Given the description of an element on the screen output the (x, y) to click on. 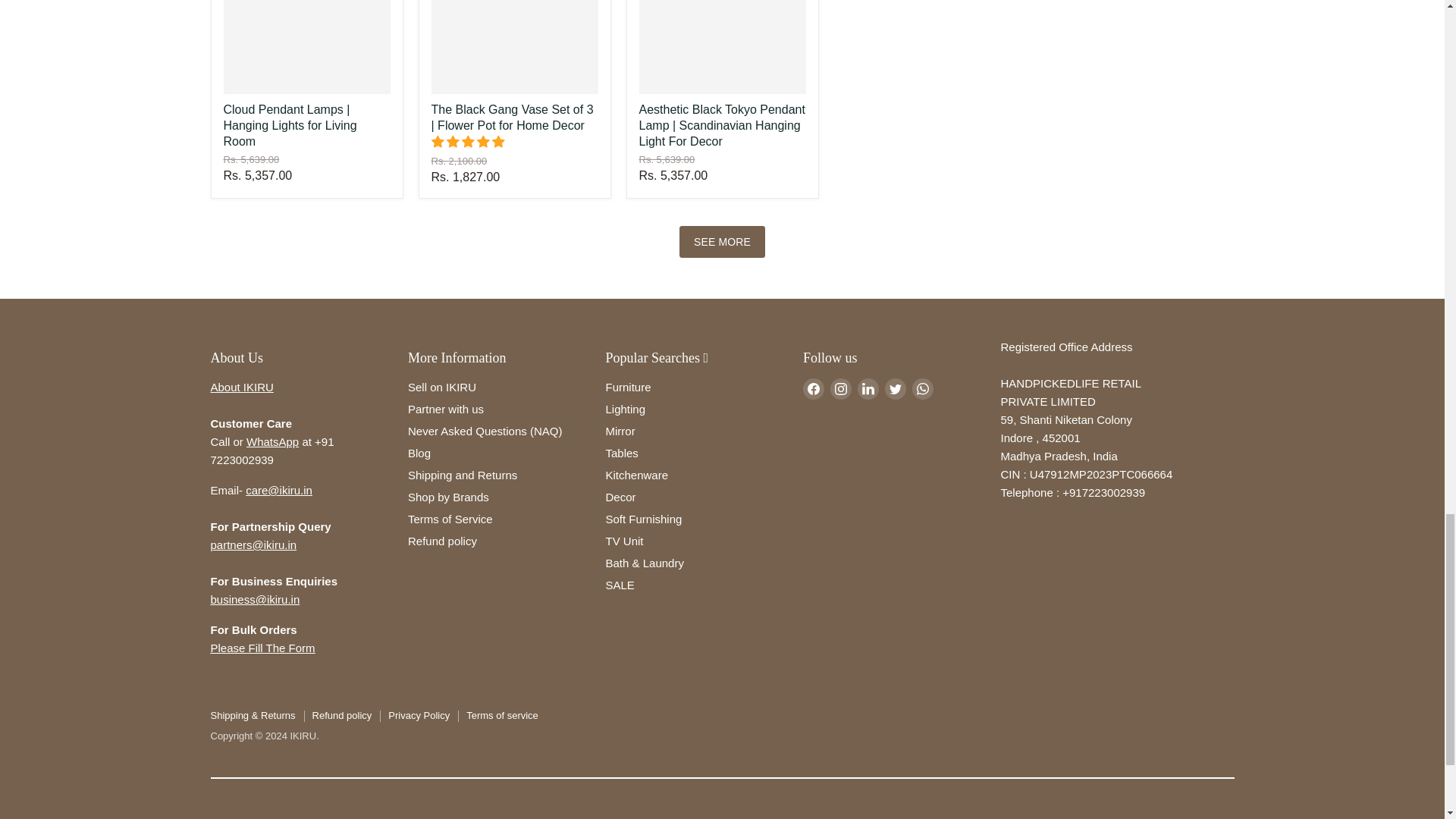
Twitter (895, 388)
Instagram (840, 388)
About us (242, 386)
WhatsApp (922, 388)
Facebook (813, 388)
LinkedIn (868, 388)
